Given the description of an element on the screen output the (x, y) to click on. 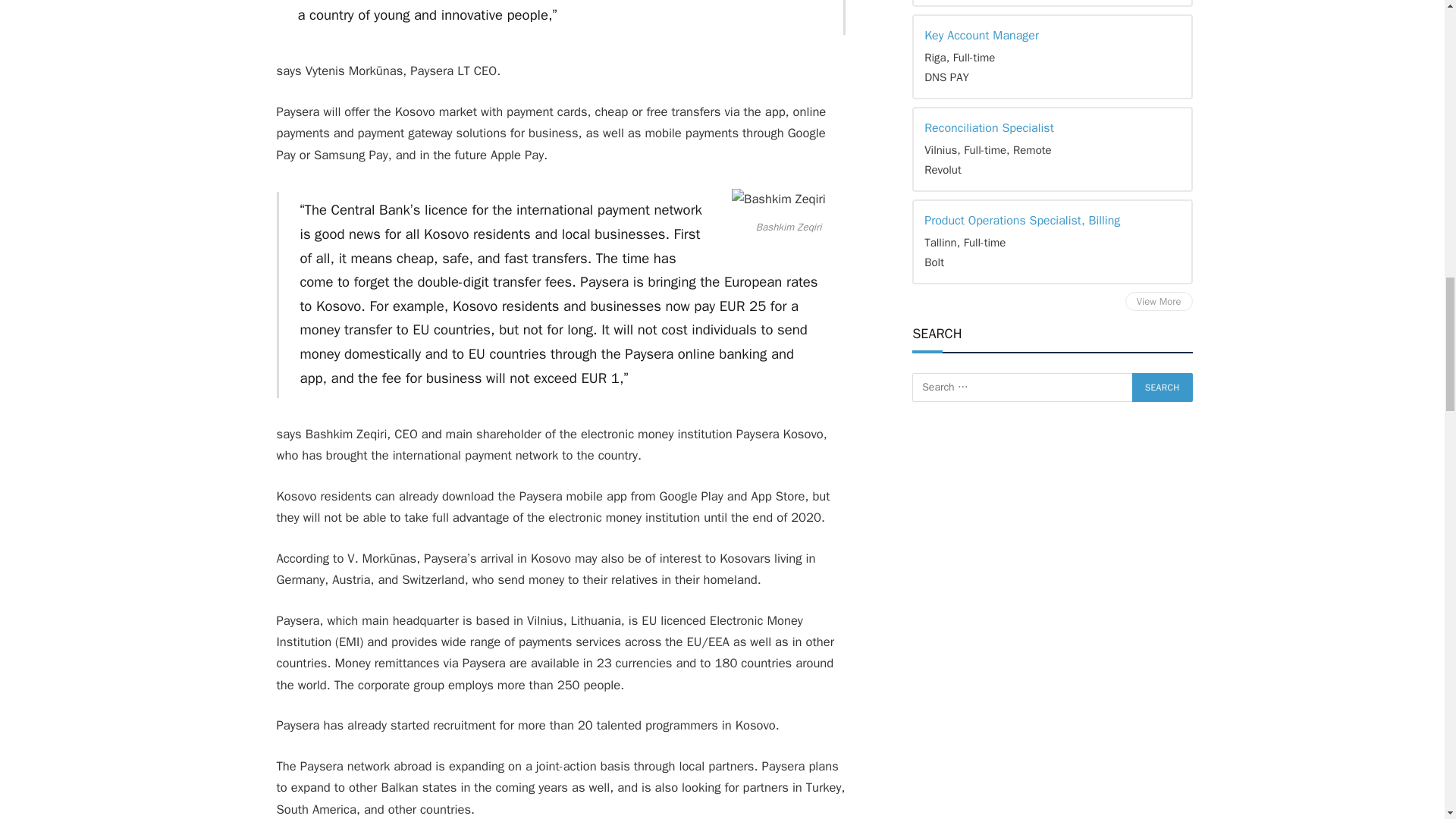
Search (1162, 387)
Search (1162, 387)
